Given the description of an element on the screen output the (x, y) to click on. 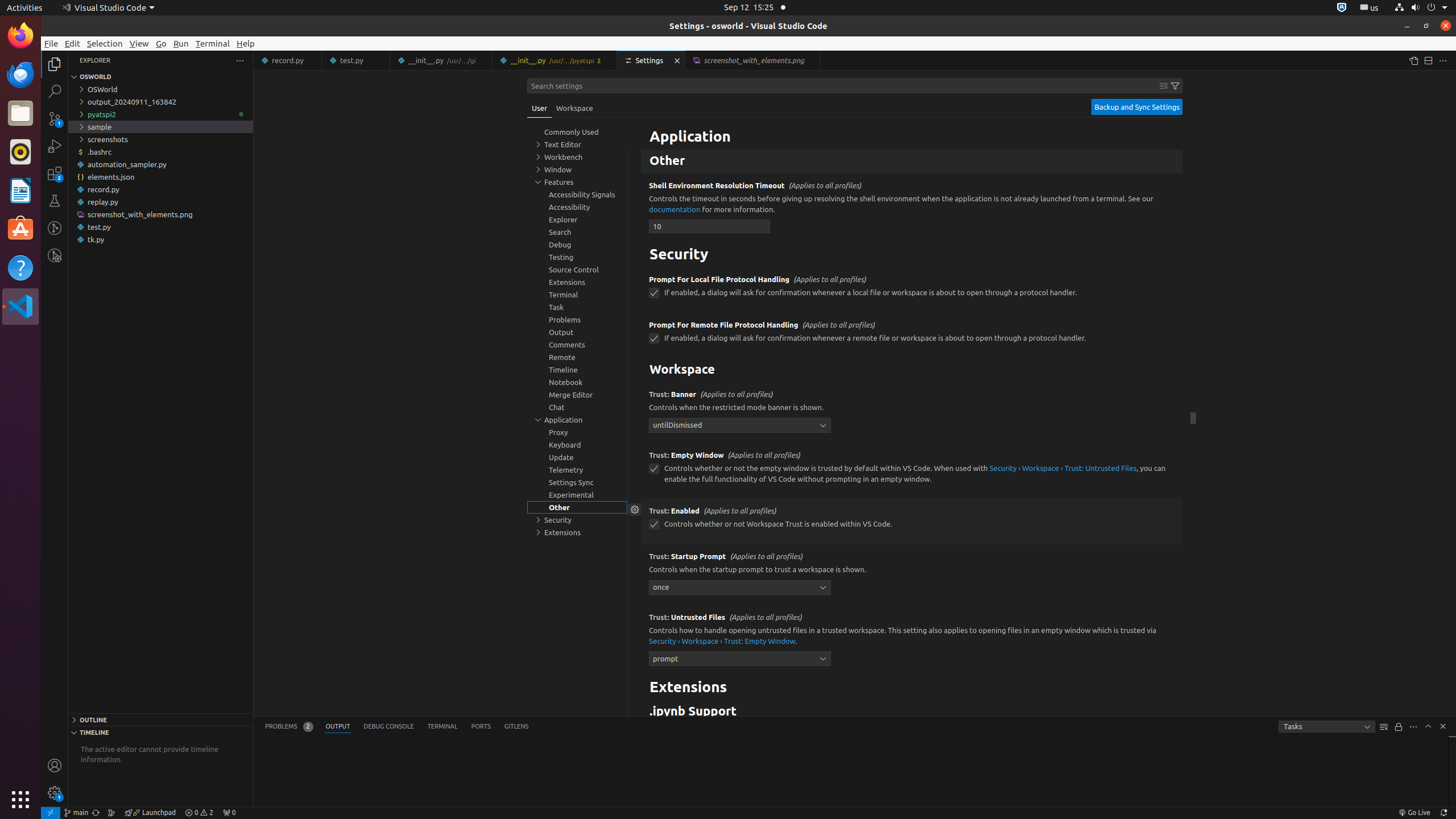
Terminal (Ctrl+`) Element type: page-tab (442, 726)
remote Element type: push-button (50, 812)
Settings Element type: page-tab (651, 60)
output_20240911_163842 Element type: tree-item (160, 101)
test.py Element type: tree-item (160, 226)
